Given the description of an element on the screen output the (x, y) to click on. 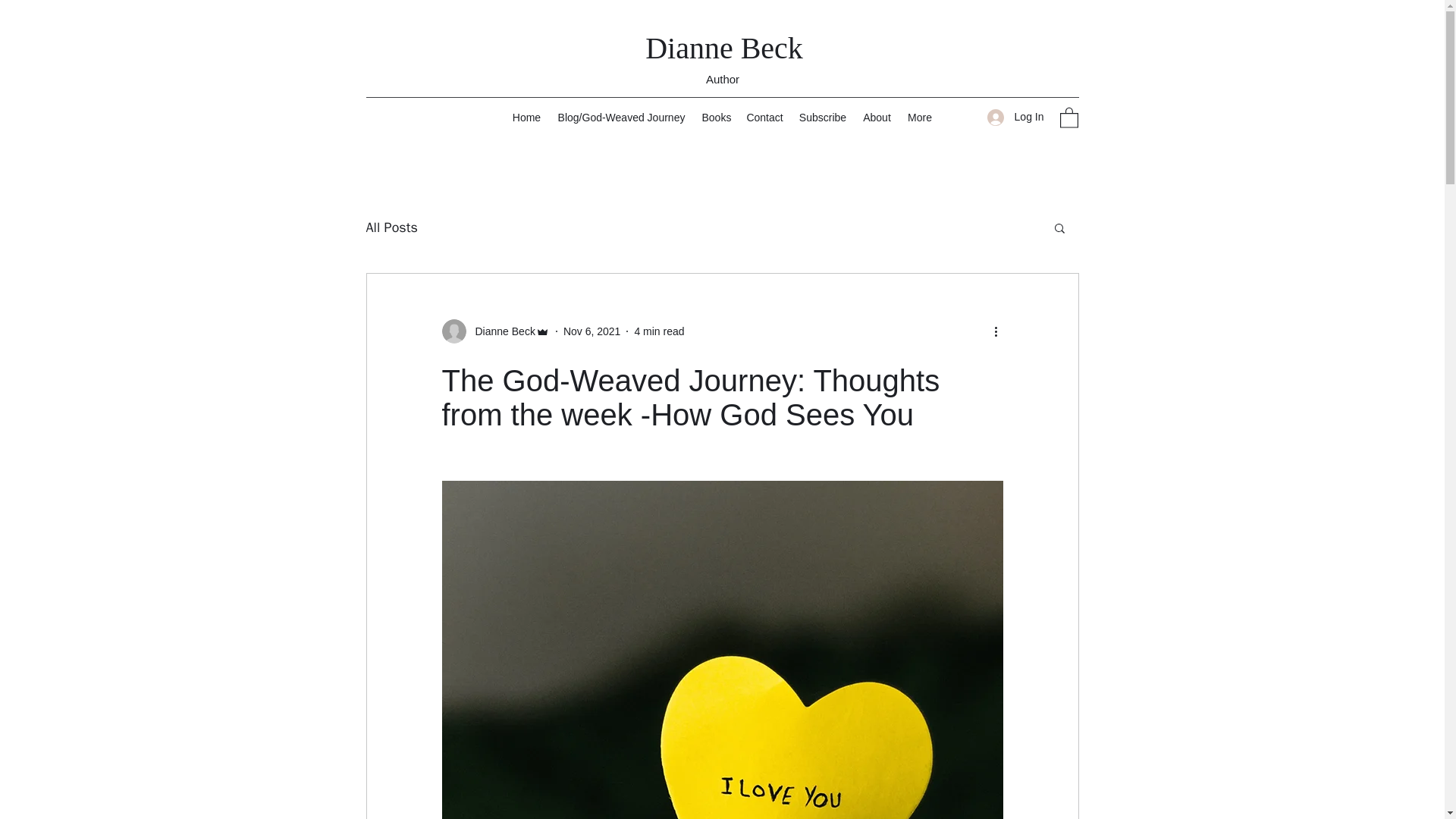
Home (526, 117)
Books (716, 117)
Log In (1015, 117)
All Posts (390, 227)
Nov 6, 2021 (592, 330)
Dianne Beck (494, 331)
About (876, 117)
Contact (765, 117)
Dianne Beck (724, 48)
Dianne Beck (499, 330)
Subscribe (823, 117)
4 min read (658, 330)
